Given the description of an element on the screen output the (x, y) to click on. 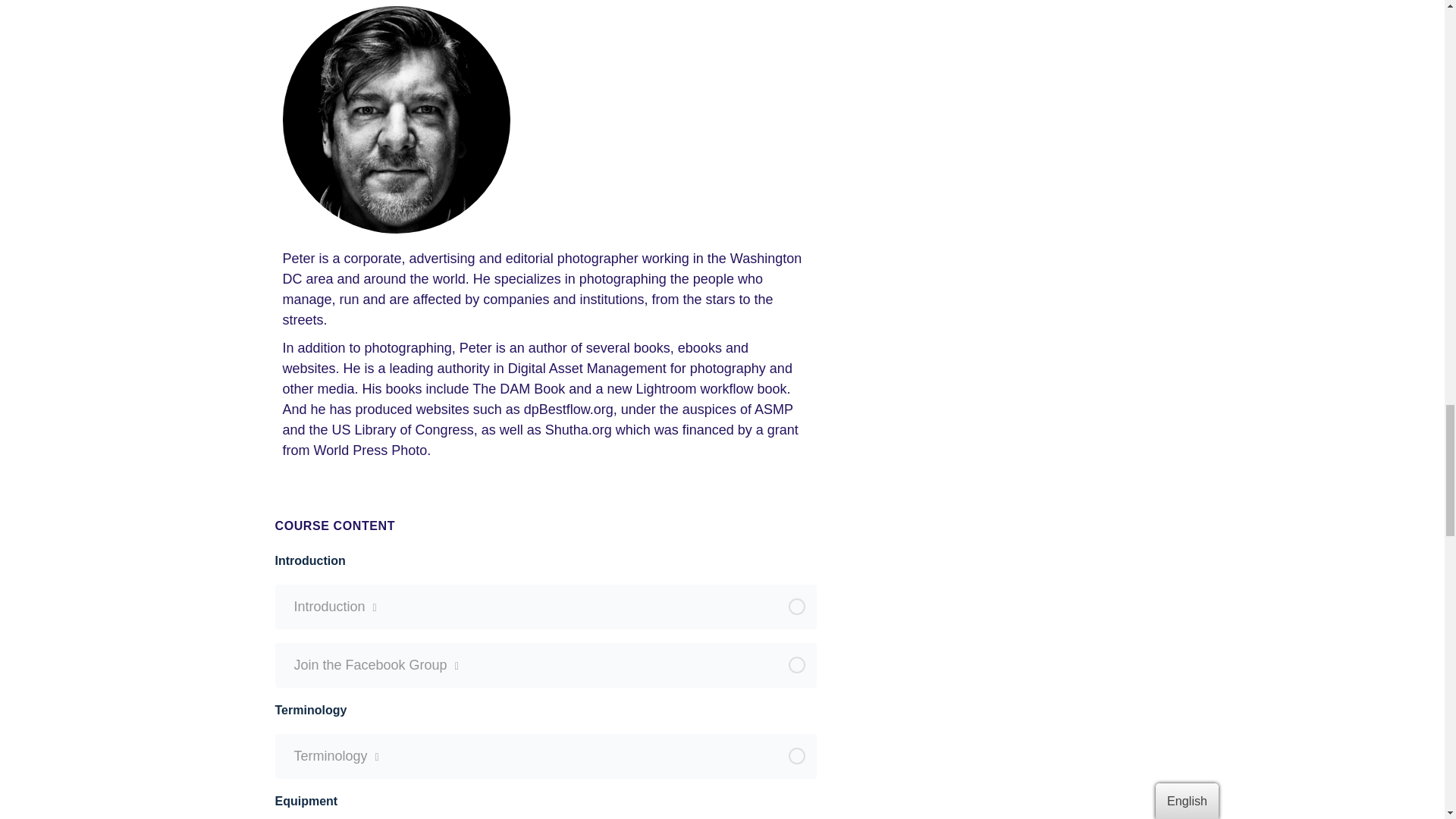
Terminology (545, 756)
Join the Facebook Group (545, 665)
Introduction (545, 607)
